Given the description of an element on the screen output the (x, y) to click on. 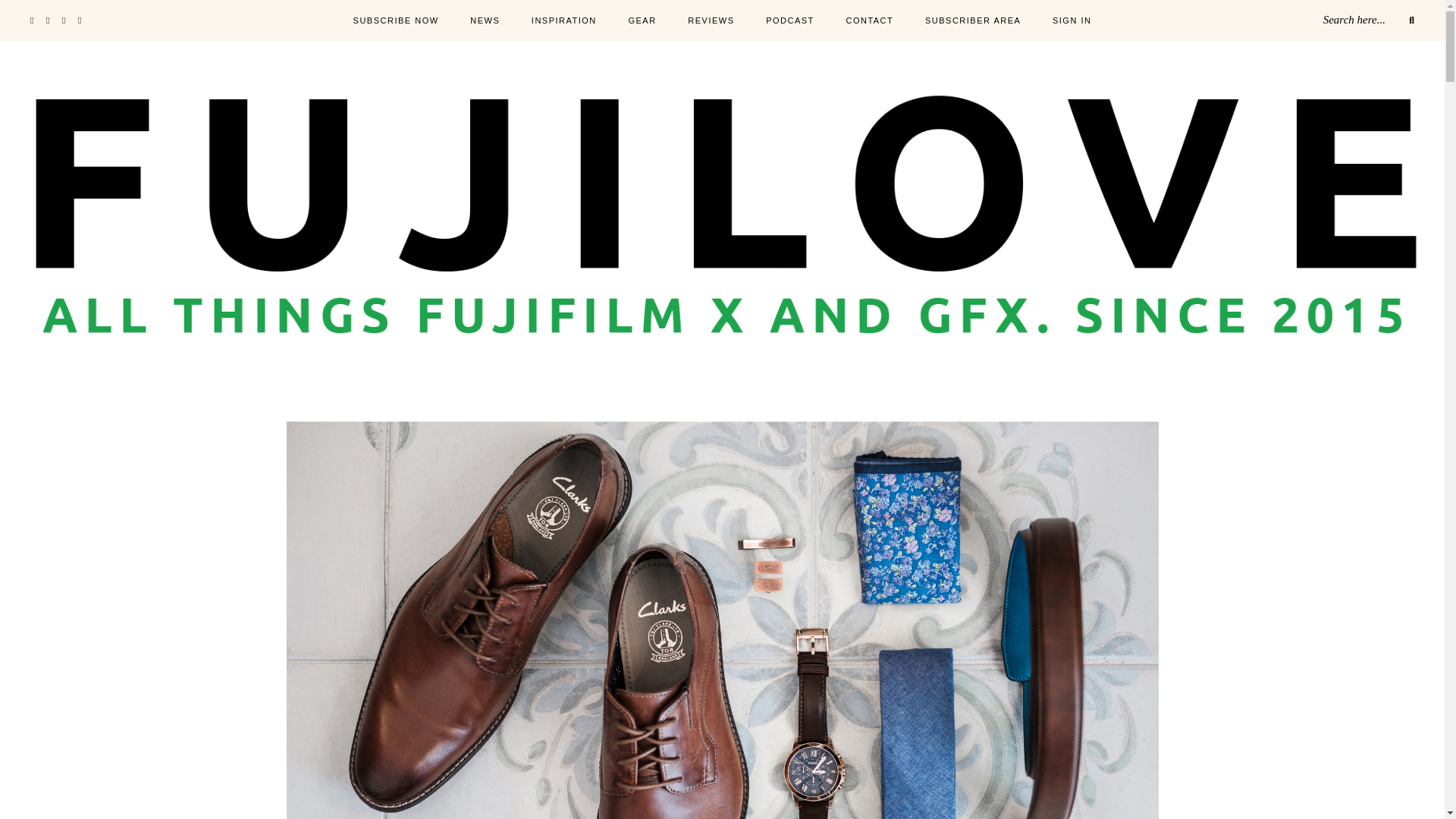
INSPIRATION (563, 20)
CONTACT (869, 20)
SUBSCRIBE NOW (396, 20)
REVIEWS (710, 20)
SUBSCRIBER AREA (972, 20)
PODCAST (789, 20)
SIGN IN (1071, 20)
